Given the description of an element on the screen output the (x, y) to click on. 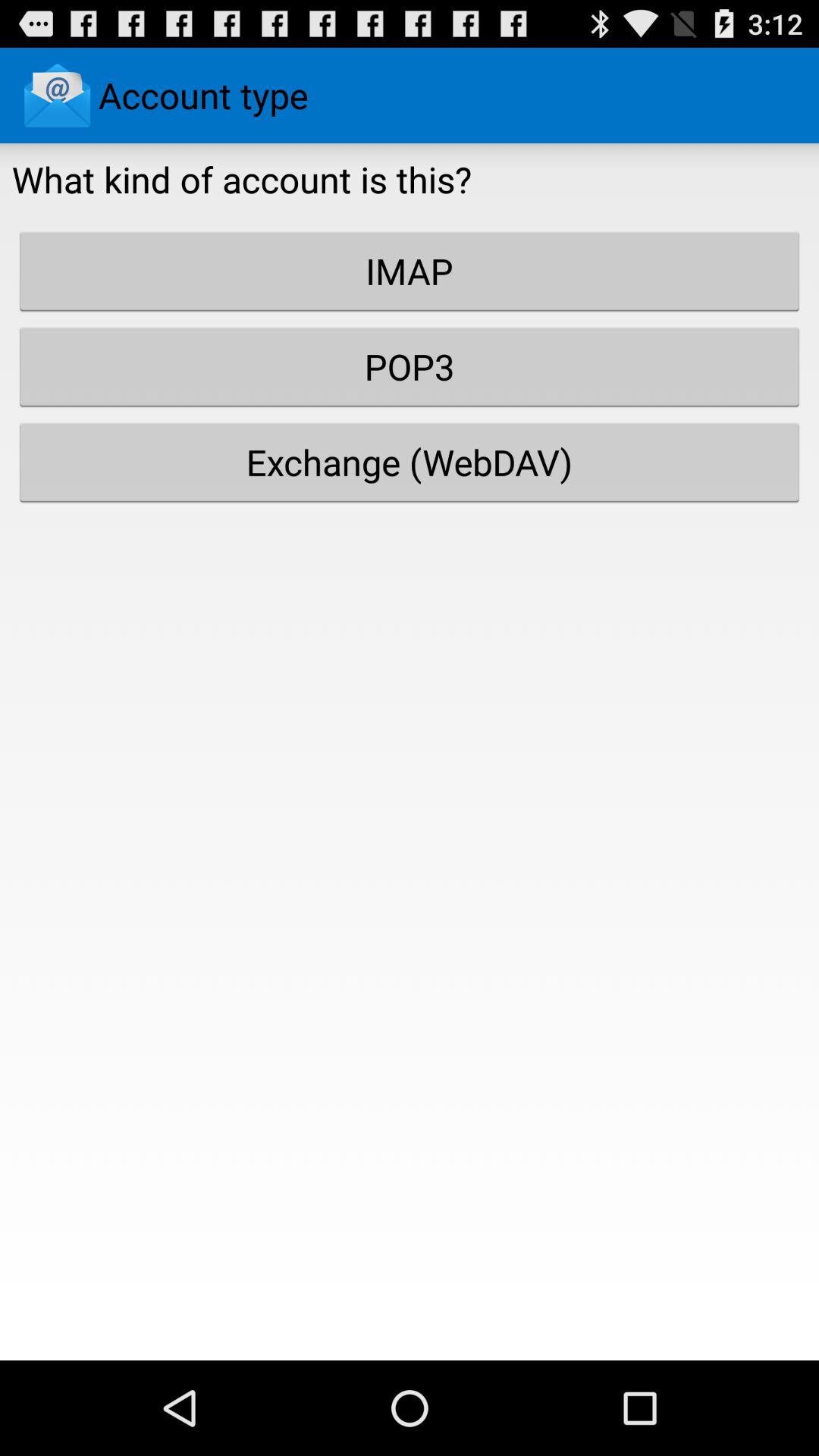
jump until the imap item (409, 271)
